Given the description of an element on the screen output the (x, y) to click on. 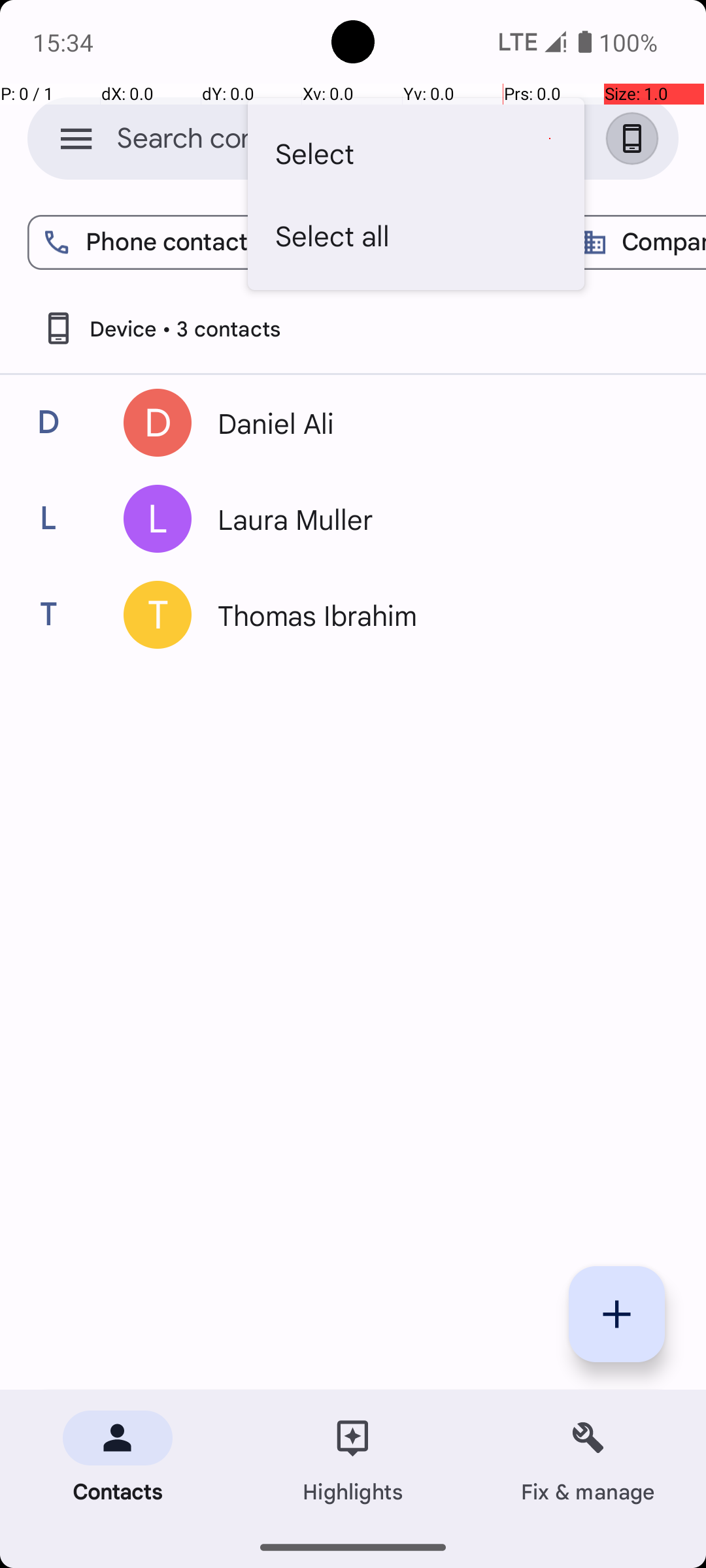
Select Element type: android.widget.TextView (415, 152)
Select all Element type: android.widget.TextView (415, 234)
